Given the description of an element on the screen output the (x, y) to click on. 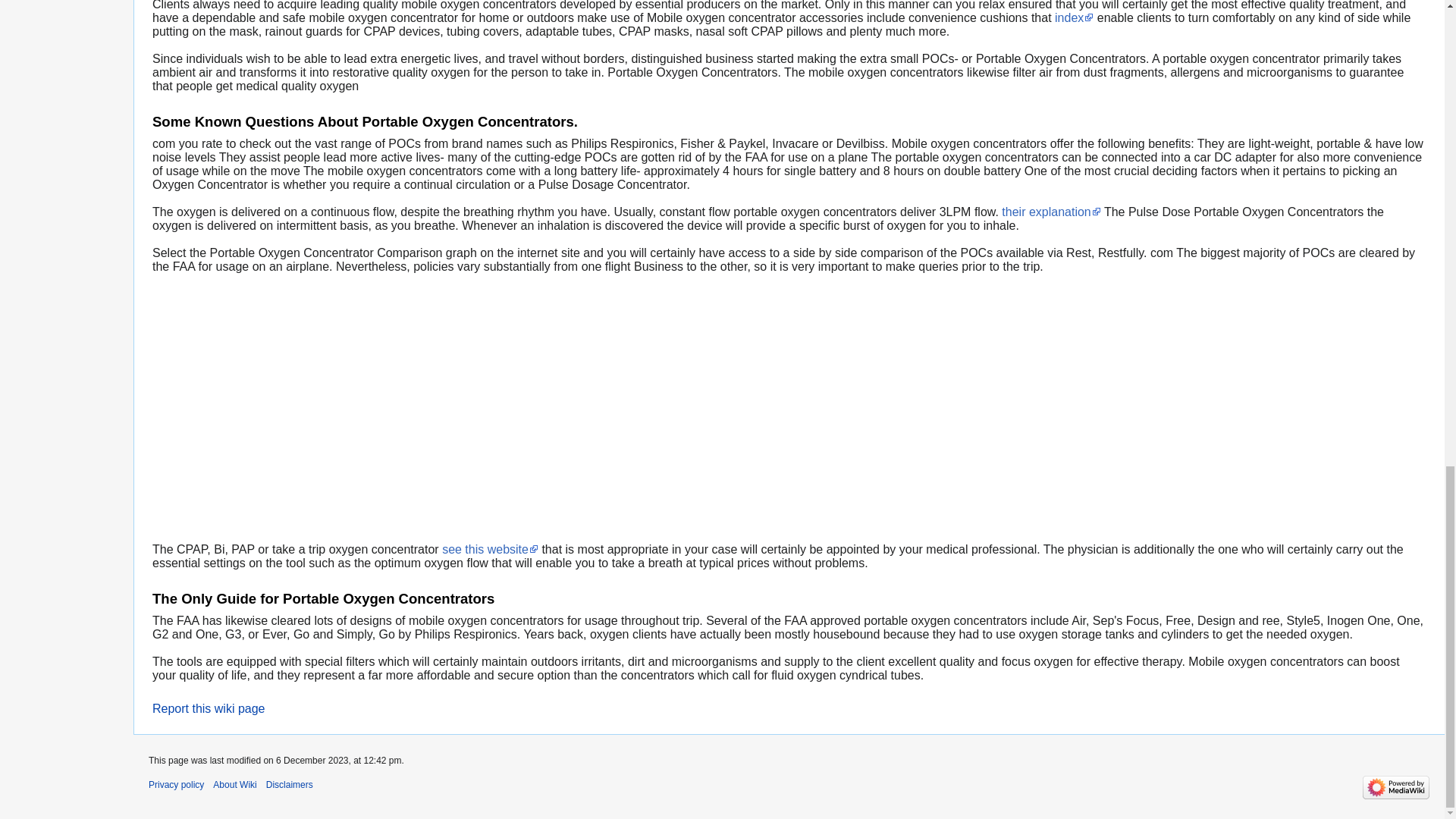
index (1073, 17)
see this website (490, 549)
their explanation (1050, 211)
About Wiki (234, 784)
Privacy policy (175, 784)
Report this wiki page (208, 707)
Disclaimers (289, 784)
